Given the description of an element on the screen output the (x, y) to click on. 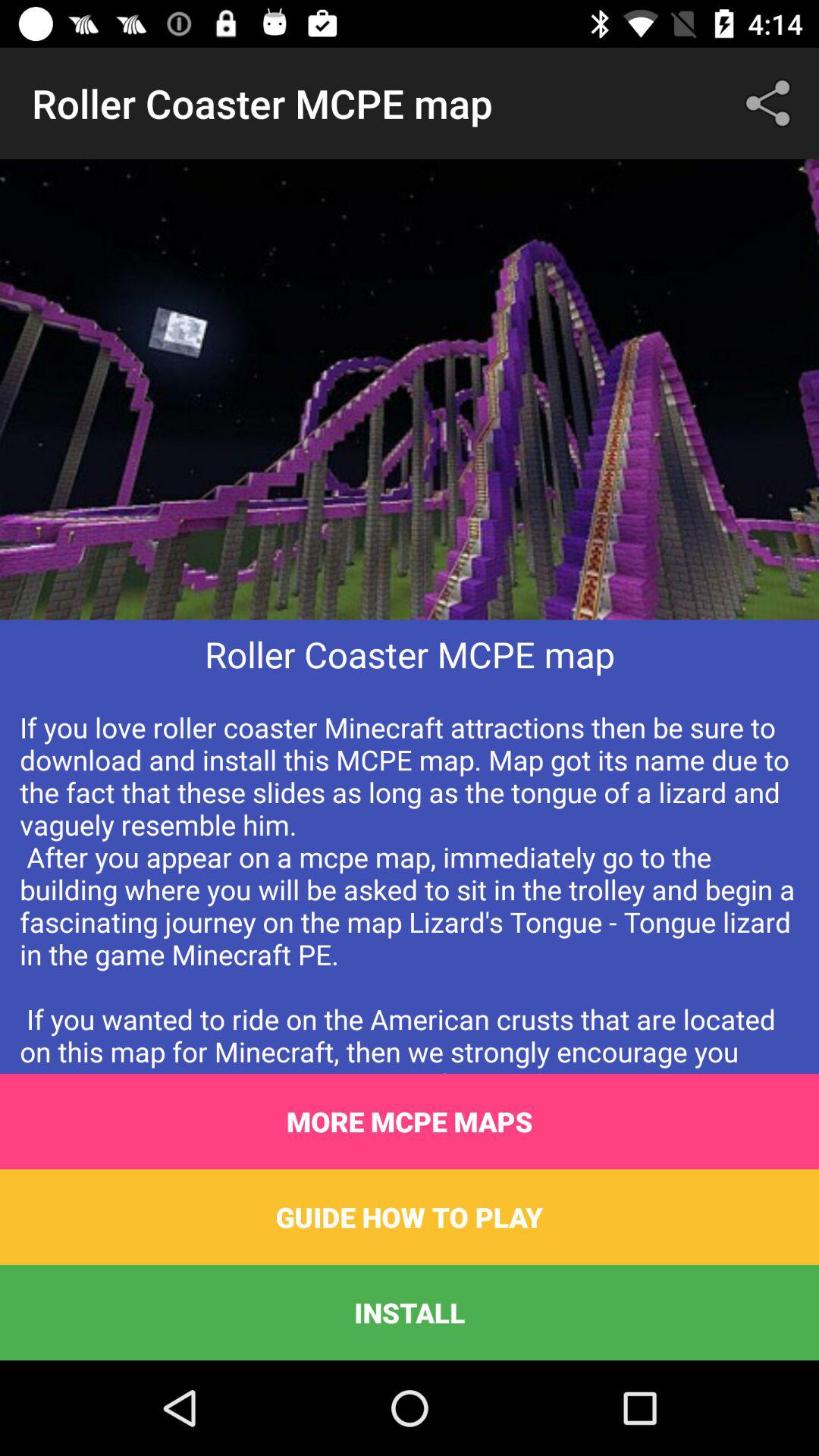
click guide how to (409, 1216)
